Given the description of an element on the screen output the (x, y) to click on. 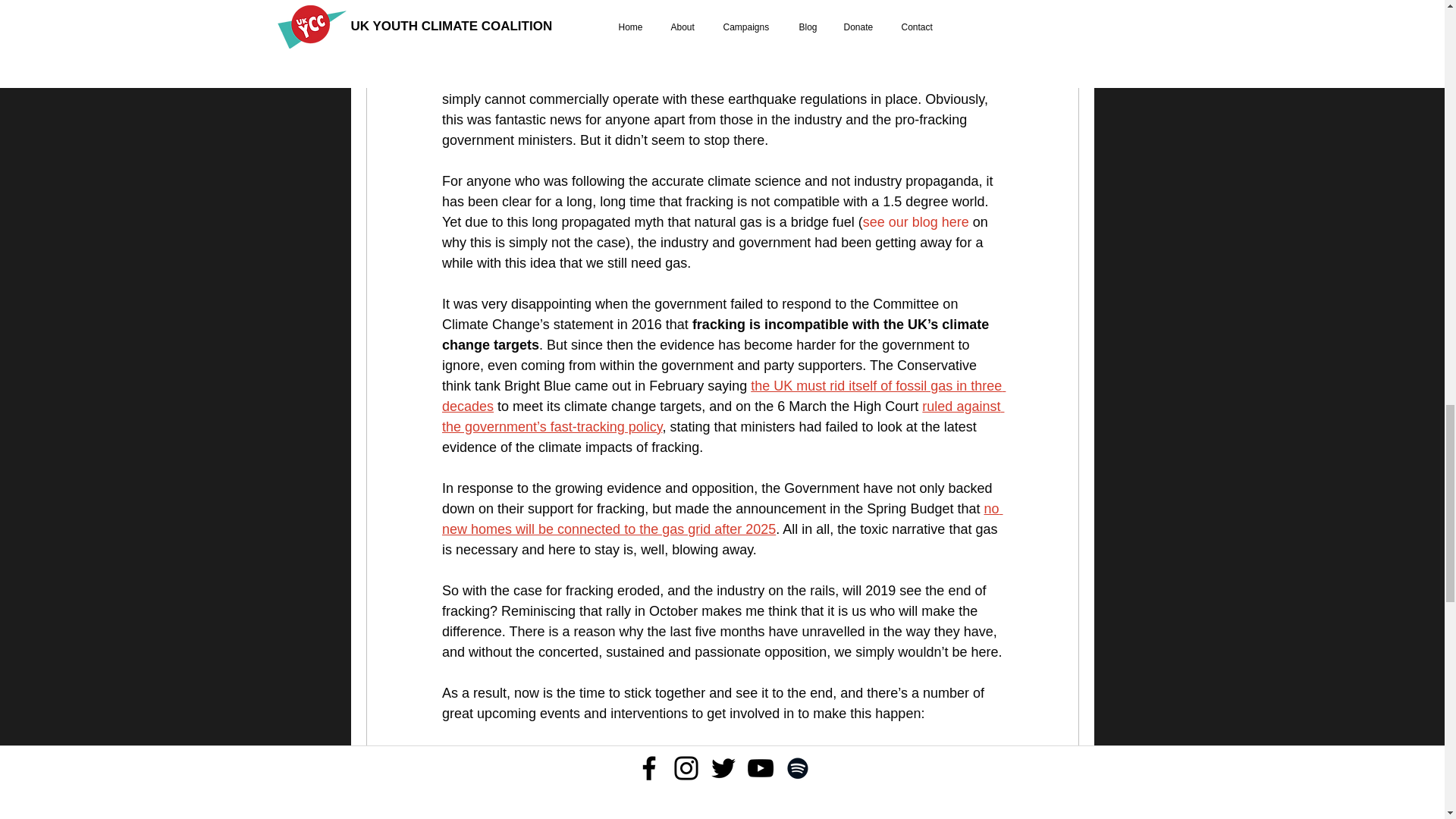
see our blog here (914, 221)
the UK must rid itself of fossil gas in three decades (722, 395)
Youth-led anti-fracking action (598, 753)
no new homes will be connected to the gas grid after 2025 (722, 518)
